Given the description of an element on the screen output the (x, y) to click on. 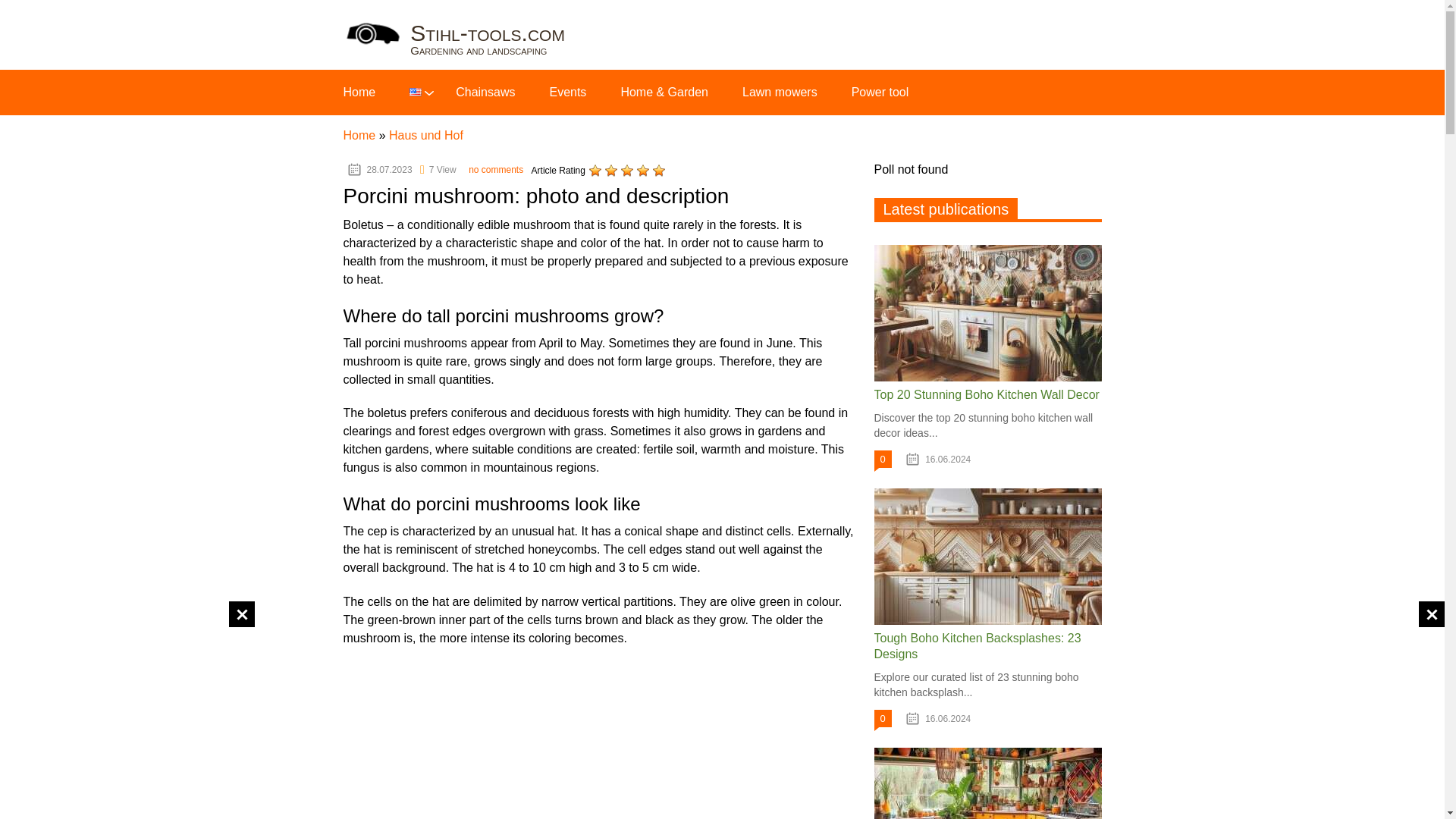
Events (567, 91)
Advertisement (731, 742)
Chainsaws (485, 91)
Power tool (879, 91)
Advertisement (470, 742)
Advertisement (127, 707)
Home (358, 91)
Lawn mowers (779, 91)
